Given the description of an element on the screen output the (x, y) to click on. 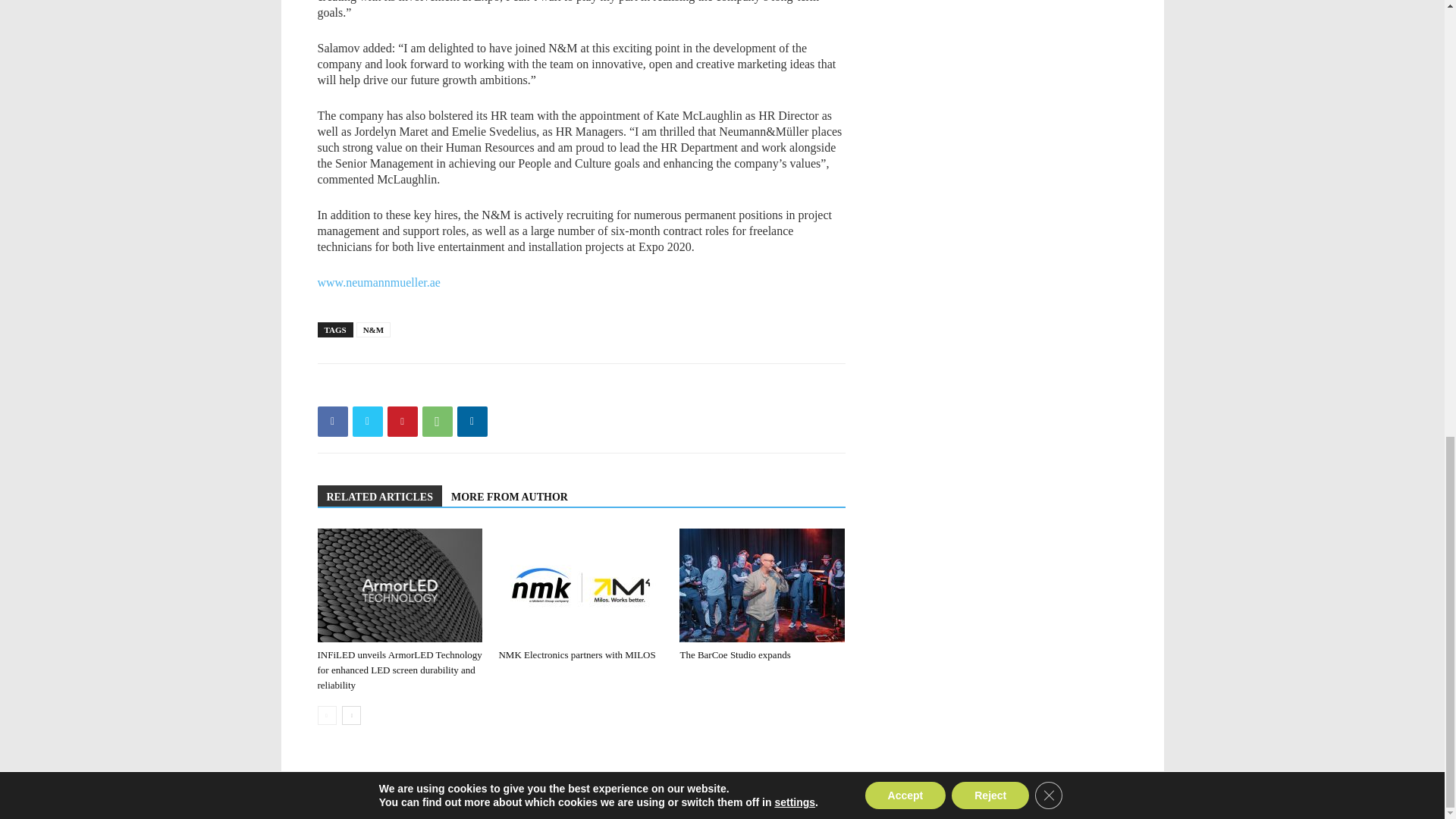
Facebook (332, 421)
bottomFacebookLike (430, 387)
Twitter (366, 421)
